Given the description of an element on the screen output the (x, y) to click on. 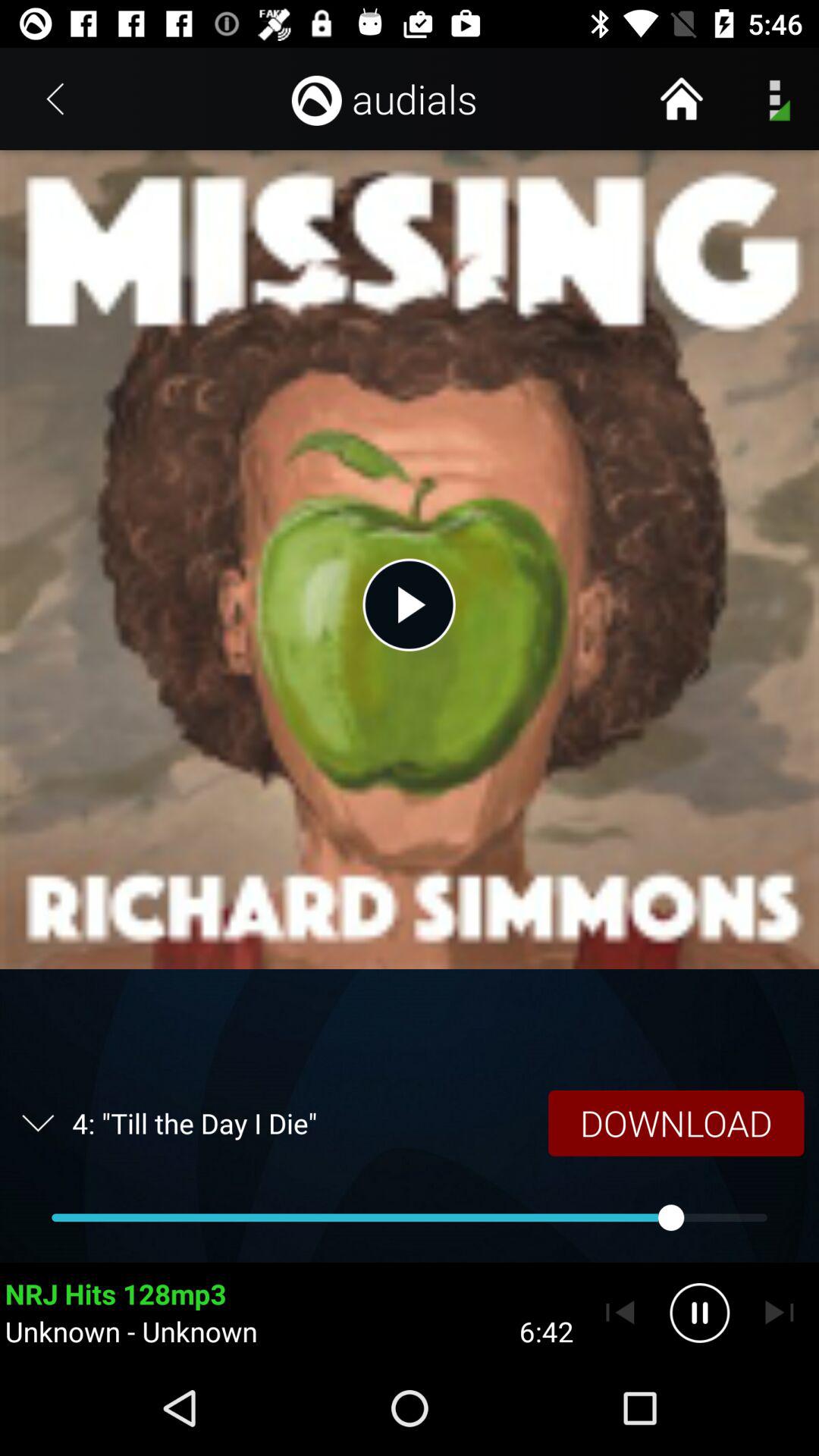
pause the recording (699, 1312)
